Given the description of an element on the screen output the (x, y) to click on. 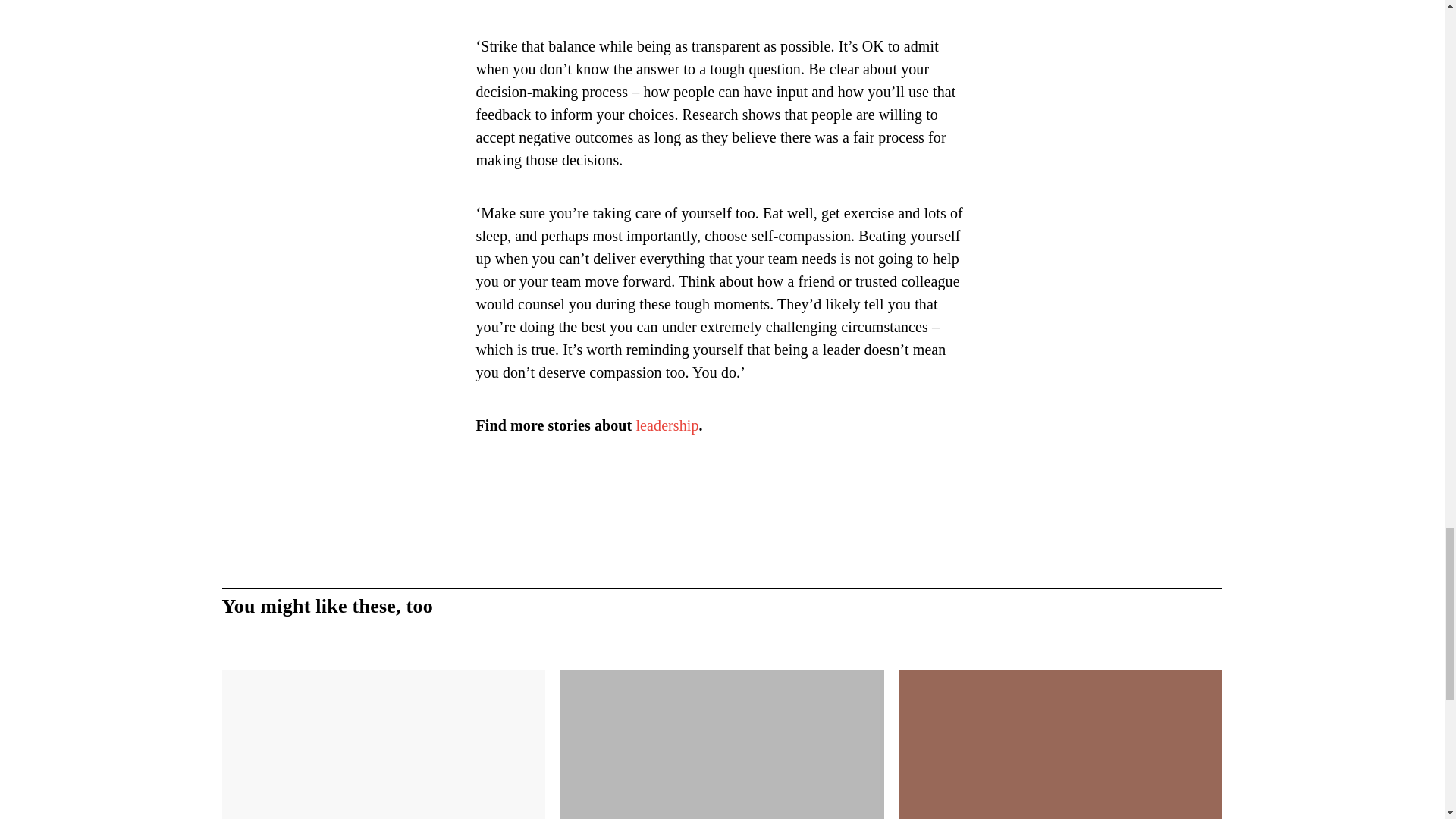
leadership (666, 425)
